Given the description of an element on the screen output the (x, y) to click on. 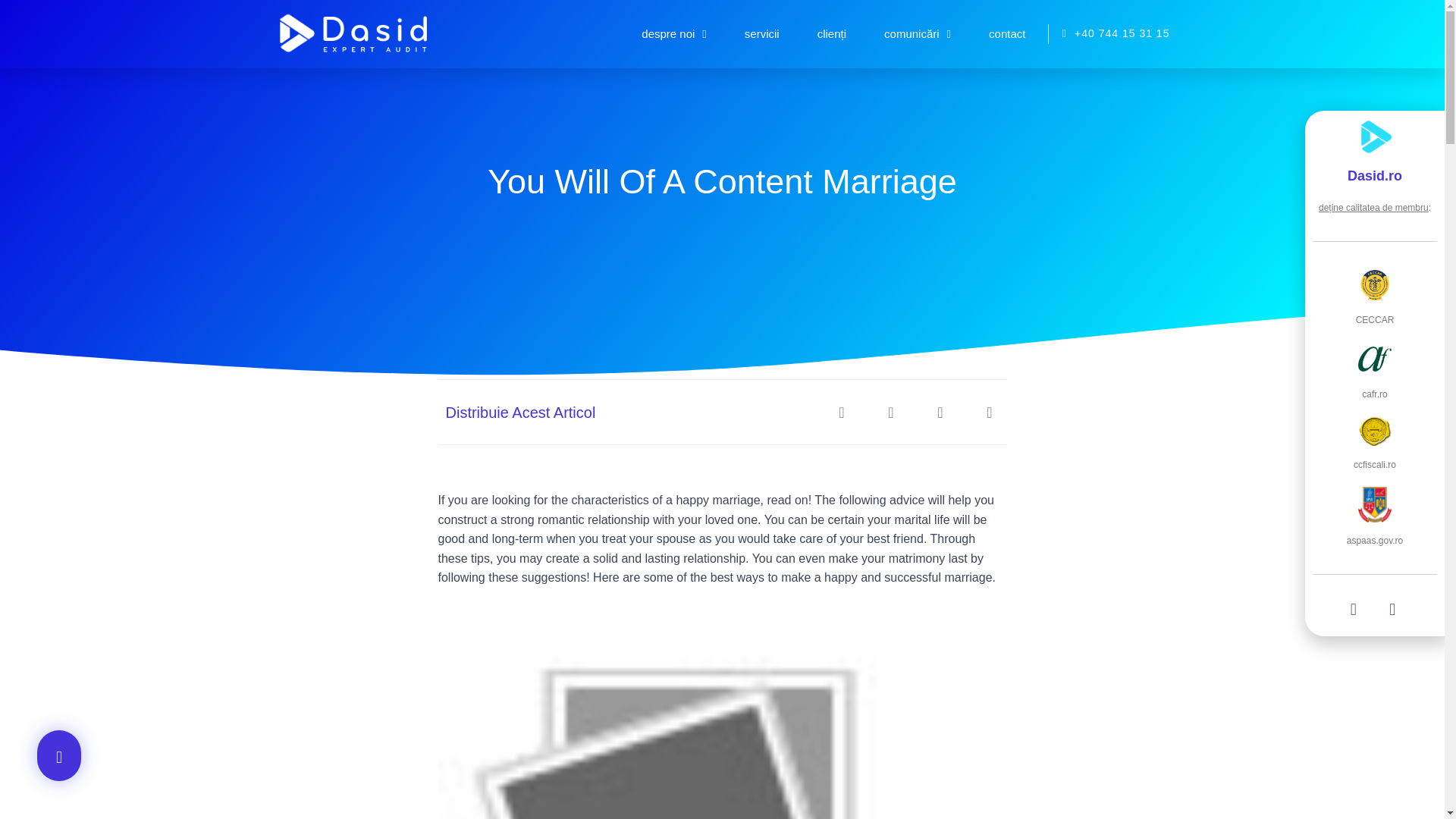
despre noi (674, 33)
